Given the description of an element on the screen output the (x, y) to click on. 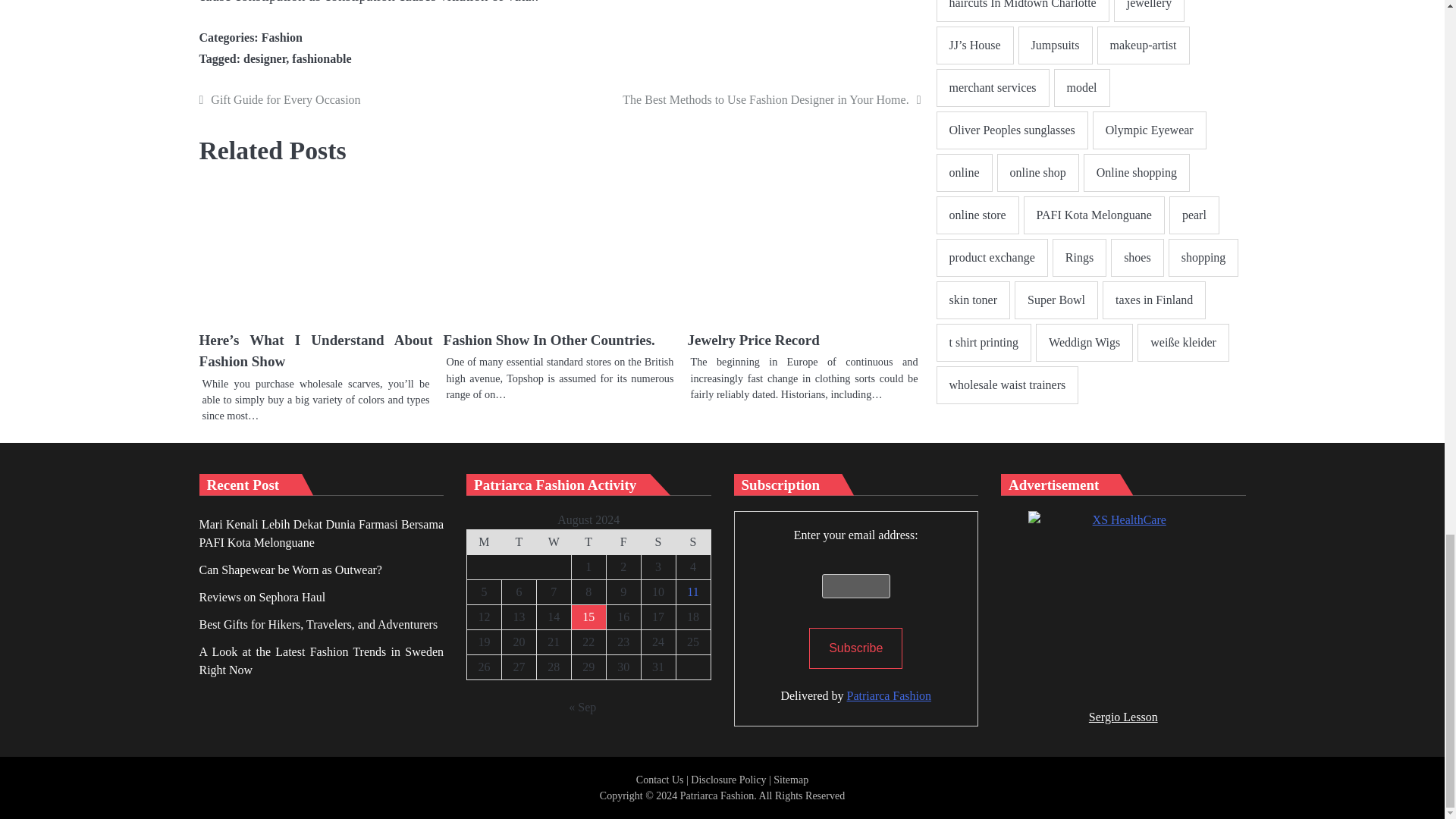
Tuesday (517, 541)
Thursday (587, 541)
The Best Methods to Use Fashion Designer in Your Home. (742, 99)
Fashion (282, 37)
Fashion Show In Other Countries. (547, 340)
Here's What I Understand About Fashion Show (315, 246)
Fashion Show In Other Countries. (559, 246)
fashionable (321, 58)
Friday (622, 541)
Jewelry Price Record (752, 340)
